Given the description of an element on the screen output the (x, y) to click on. 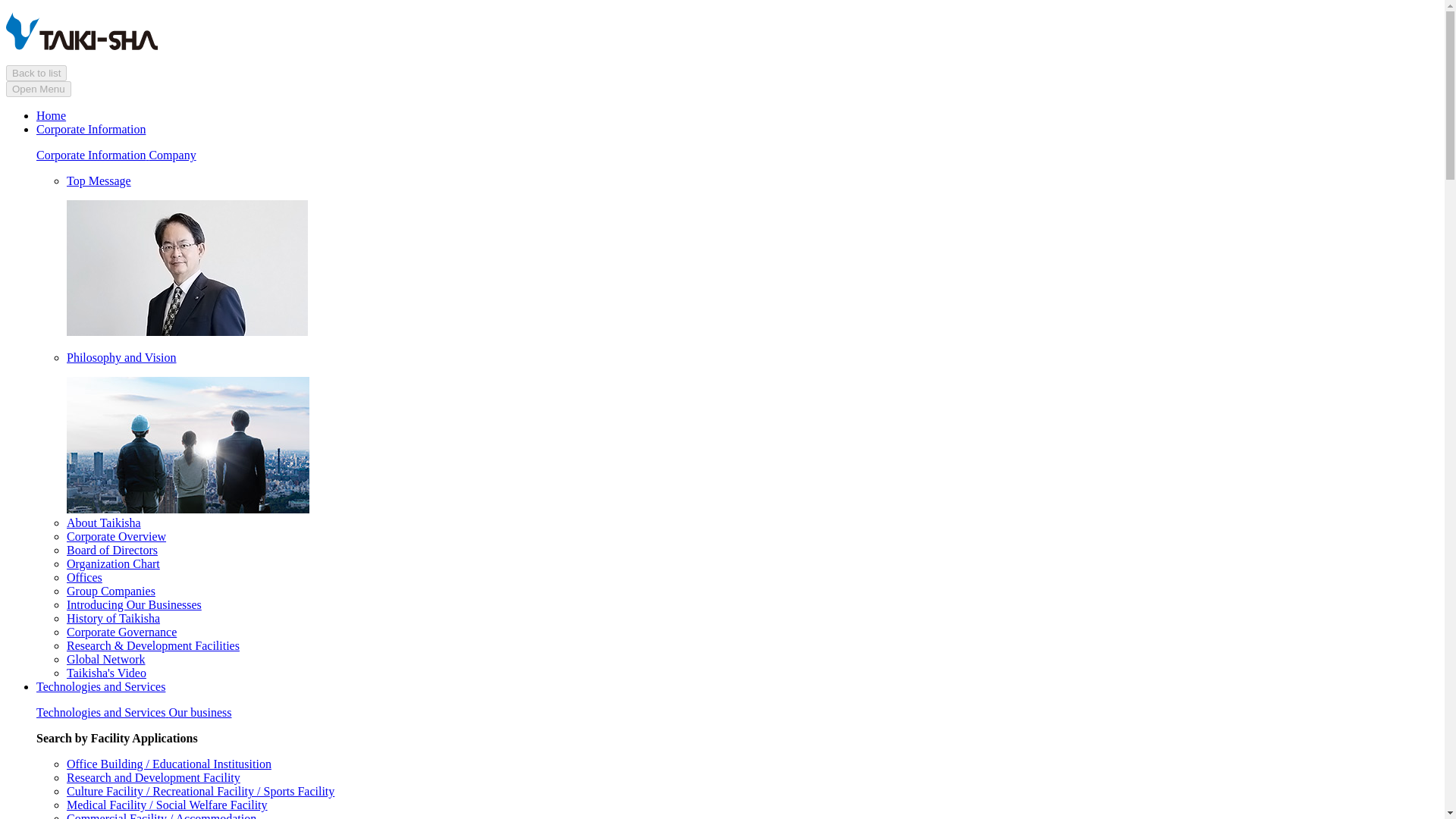
Corporate Governance (121, 631)
Board of Directors (111, 549)
History of Taikisha (113, 617)
Introducing Our Businesses (134, 604)
Corporate Information Company (116, 154)
Taikisha's Video (106, 672)
Technologies and Services (100, 686)
Home (50, 115)
Corporate Information (90, 128)
Technologies and Services Our business (133, 712)
